Given the description of an element on the screen output the (x, y) to click on. 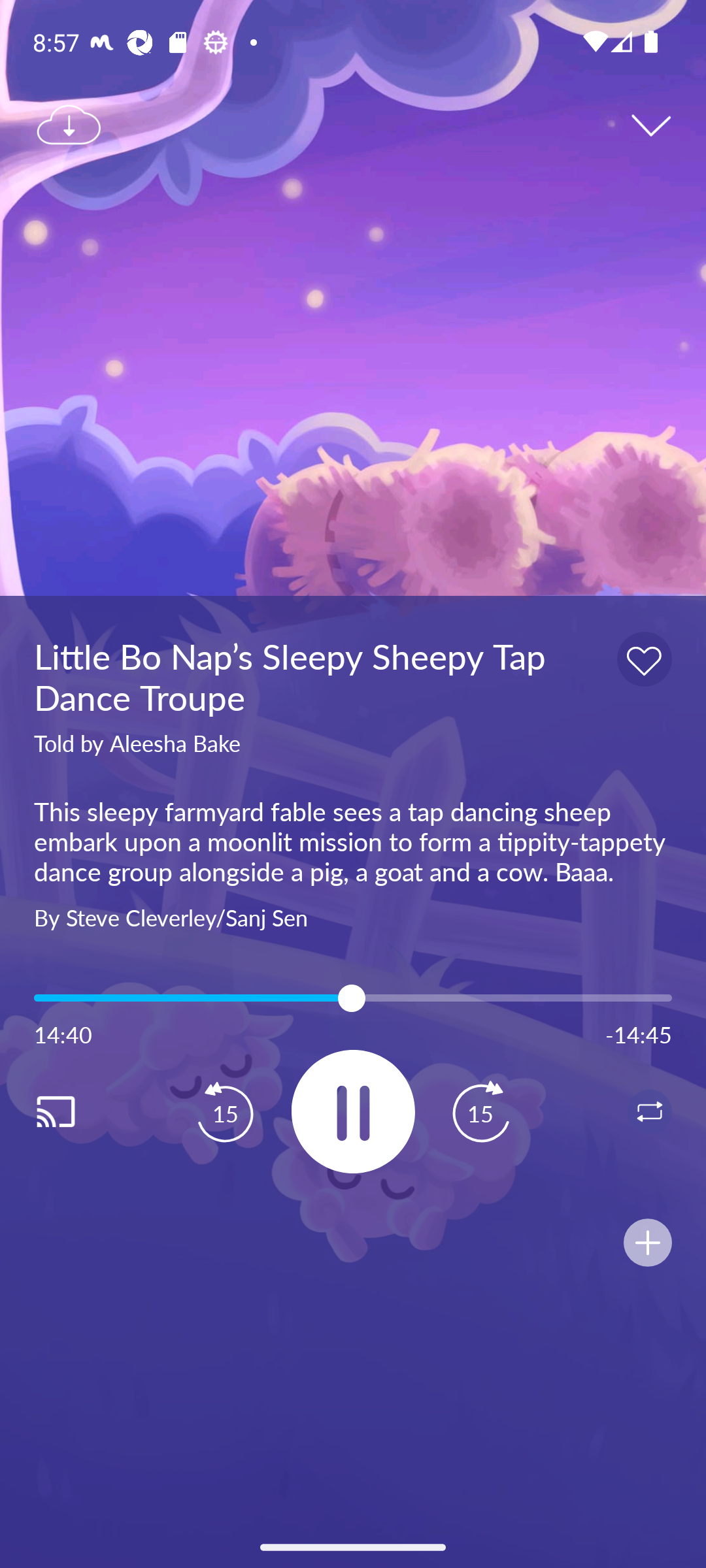
880.0 (352, 997)
Cast. Disconnected (76, 1111)
